Given the description of an element on the screen output the (x, y) to click on. 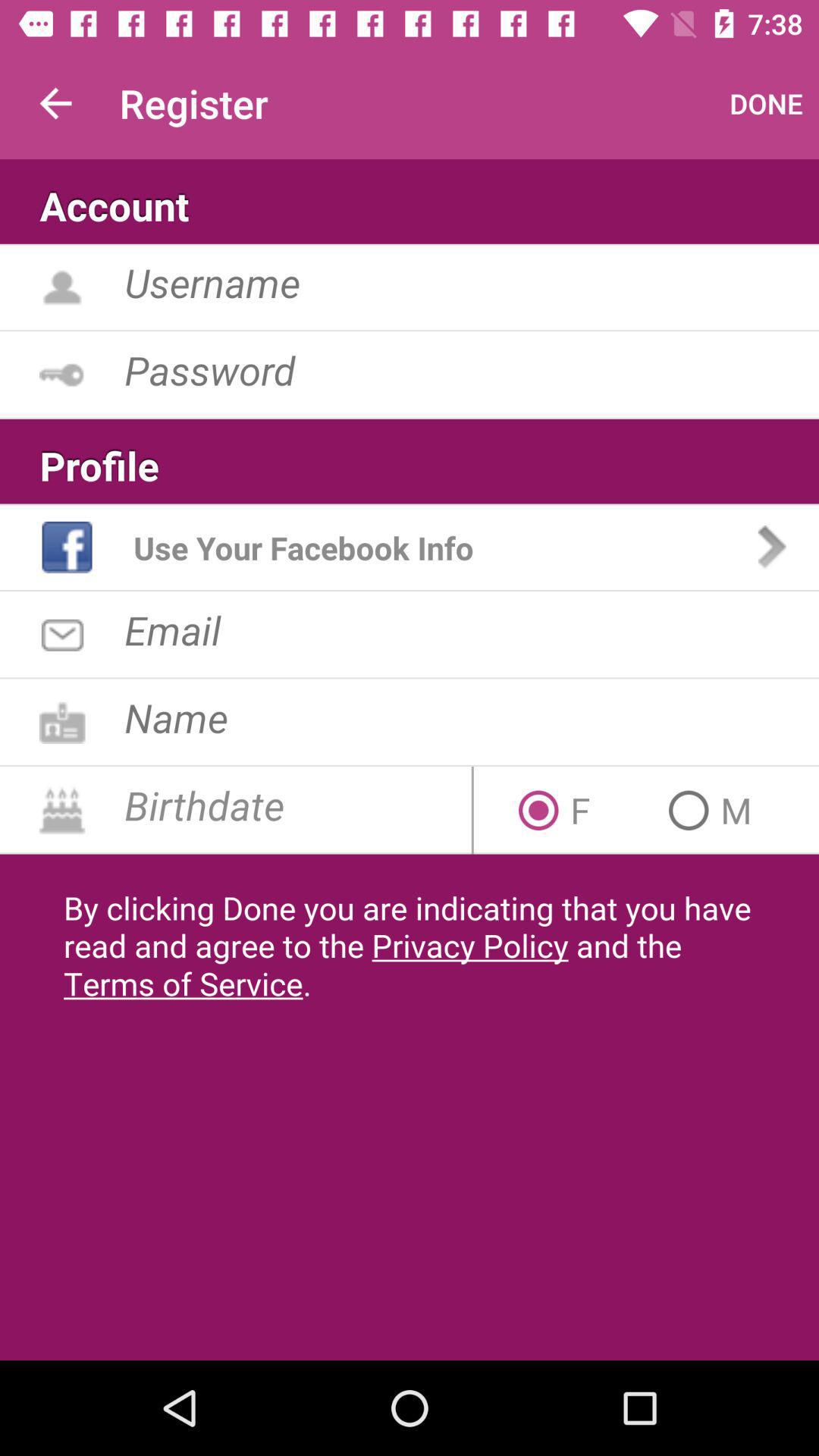
typing box (471, 281)
